Given the description of an element on the screen output the (x, y) to click on. 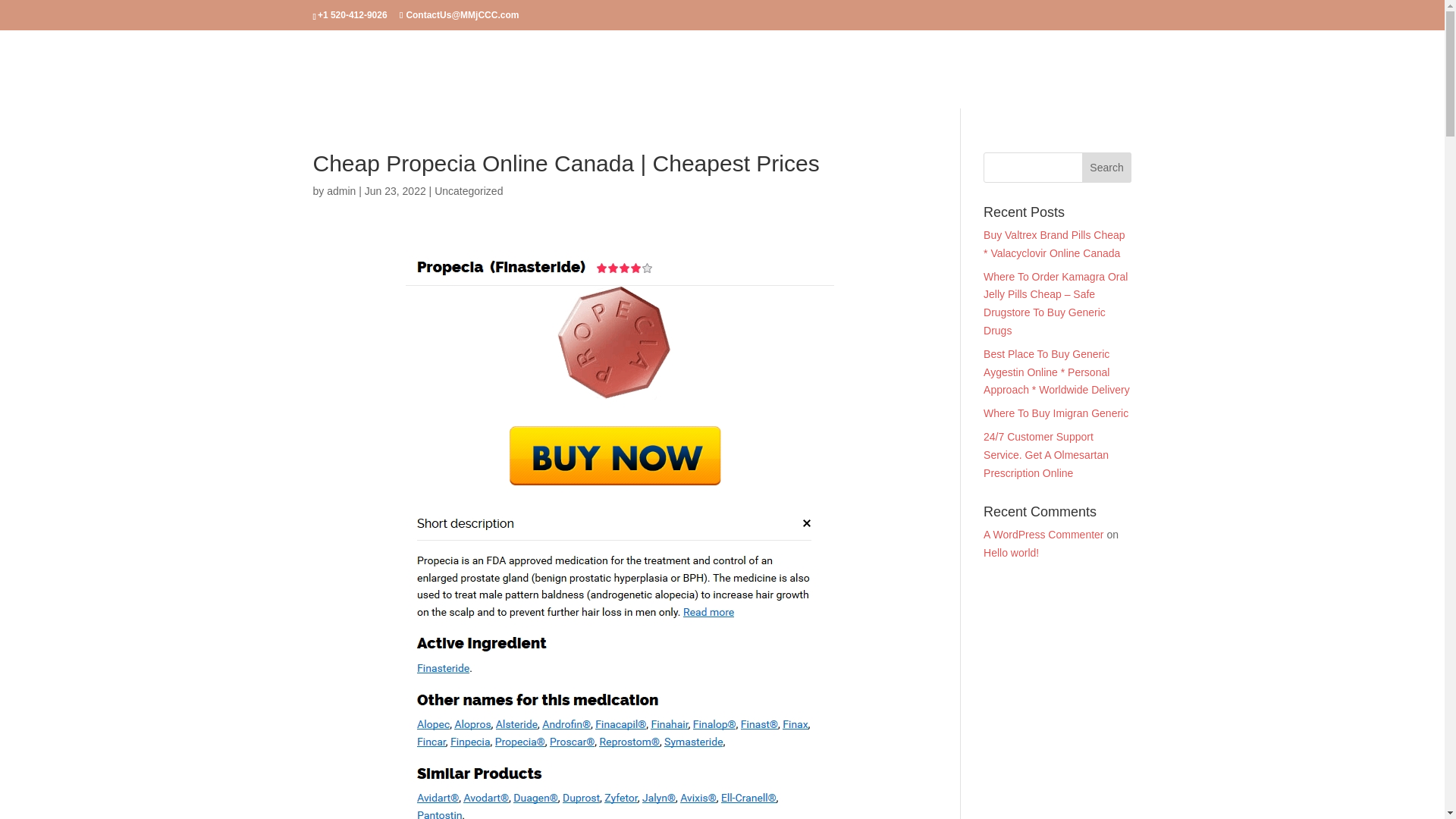
Search (1106, 167)
Posts by admin (340, 191)
